Given the description of an element on the screen output the (x, y) to click on. 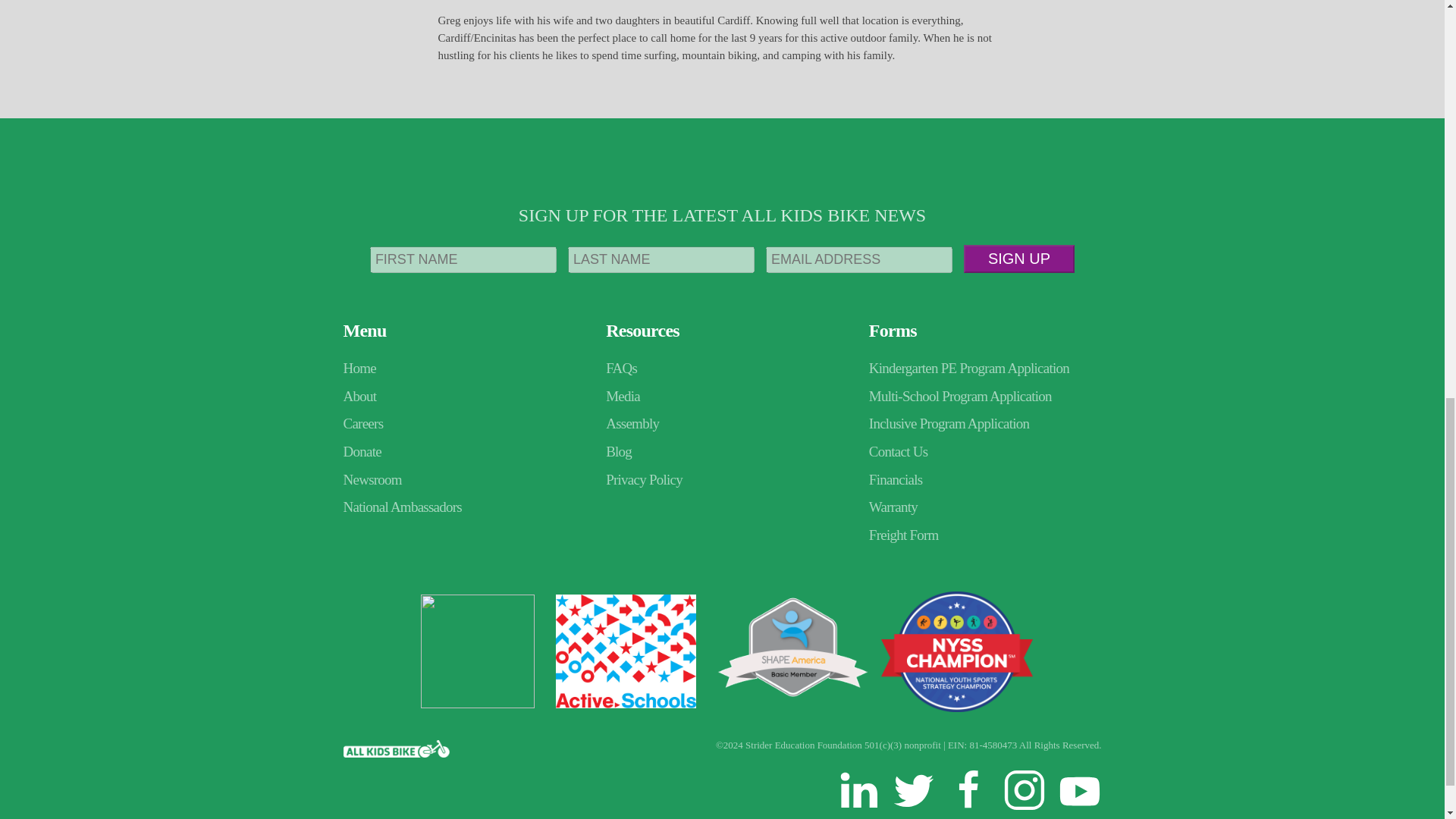
SIGN UP (1018, 258)
